Given the description of an element on the screen output the (x, y) to click on. 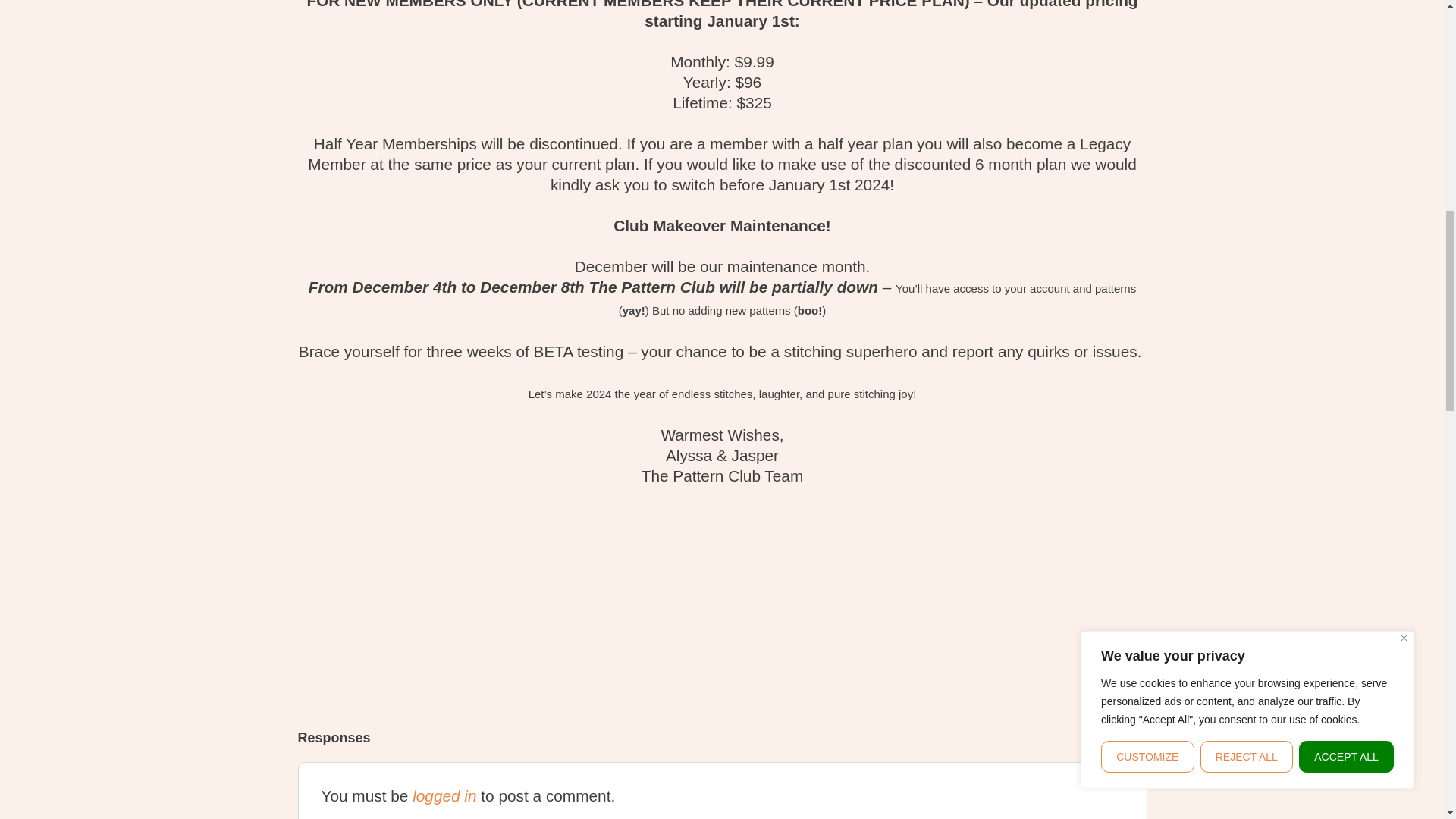
logged in (444, 795)
